Given the description of an element on the screen output the (x, y) to click on. 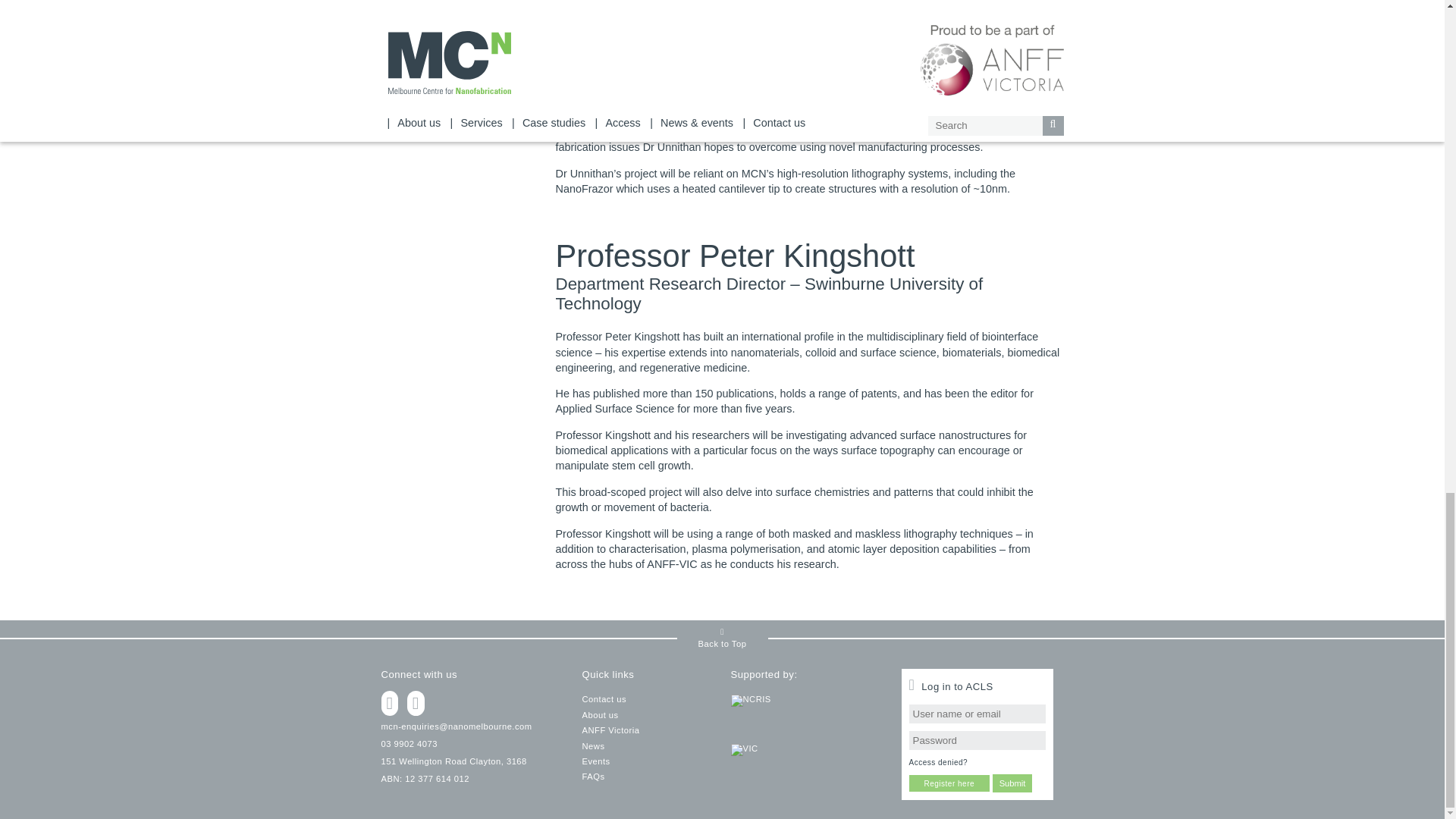
Back to Top (722, 638)
VIC (806, 776)
Email Us (455, 726)
NCRIS (806, 718)
Call Us (408, 743)
